Given the description of an element on the screen output the (x, y) to click on. 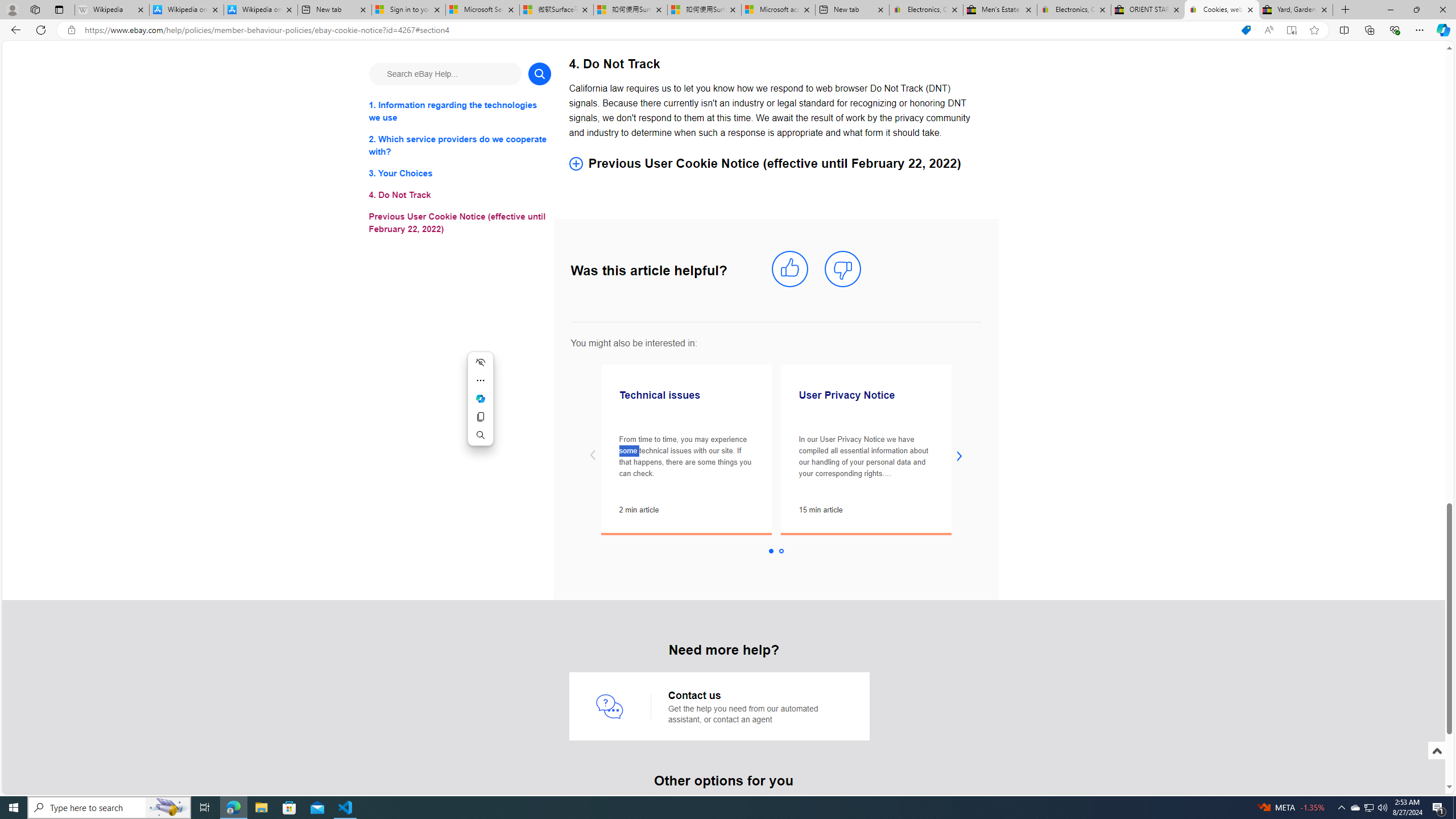
mark this article helpful (789, 269)
Mini menu on text selection (480, 405)
2. Which service providers do we cooperate with? (459, 145)
